Given the description of an element on the screen output the (x, y) to click on. 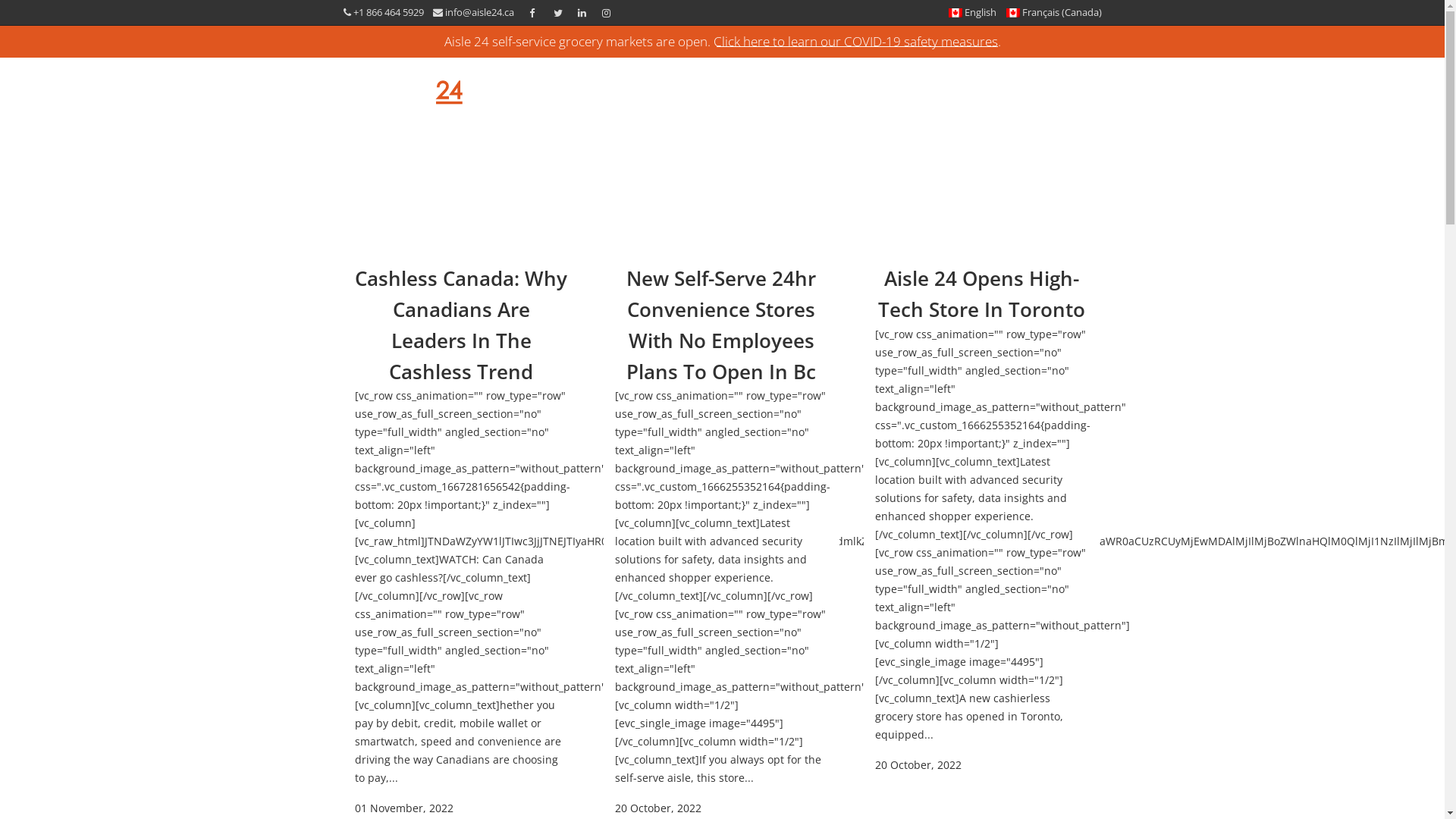
Click here to learn our COVID-19 safety measures. Element type: text (854, 41)
Aisle 24 Opens High-Tech Store In Toronto Element type: text (981, 293)
About Us Element type: text (890, 83)
info@aisle24.ca Element type: text (478, 11)
+1 866 464 5929 Element type: text (389, 11)
Franchise Element type: text (820, 83)
Markets Element type: text (625, 83)
Shopping Experience Element type: text (721, 83)
Contact Element type: text (1071, 83)
News Element type: text (1017, 83)
Locations Element type: text (958, 83)
